Given the description of an element on the screen output the (x, y) to click on. 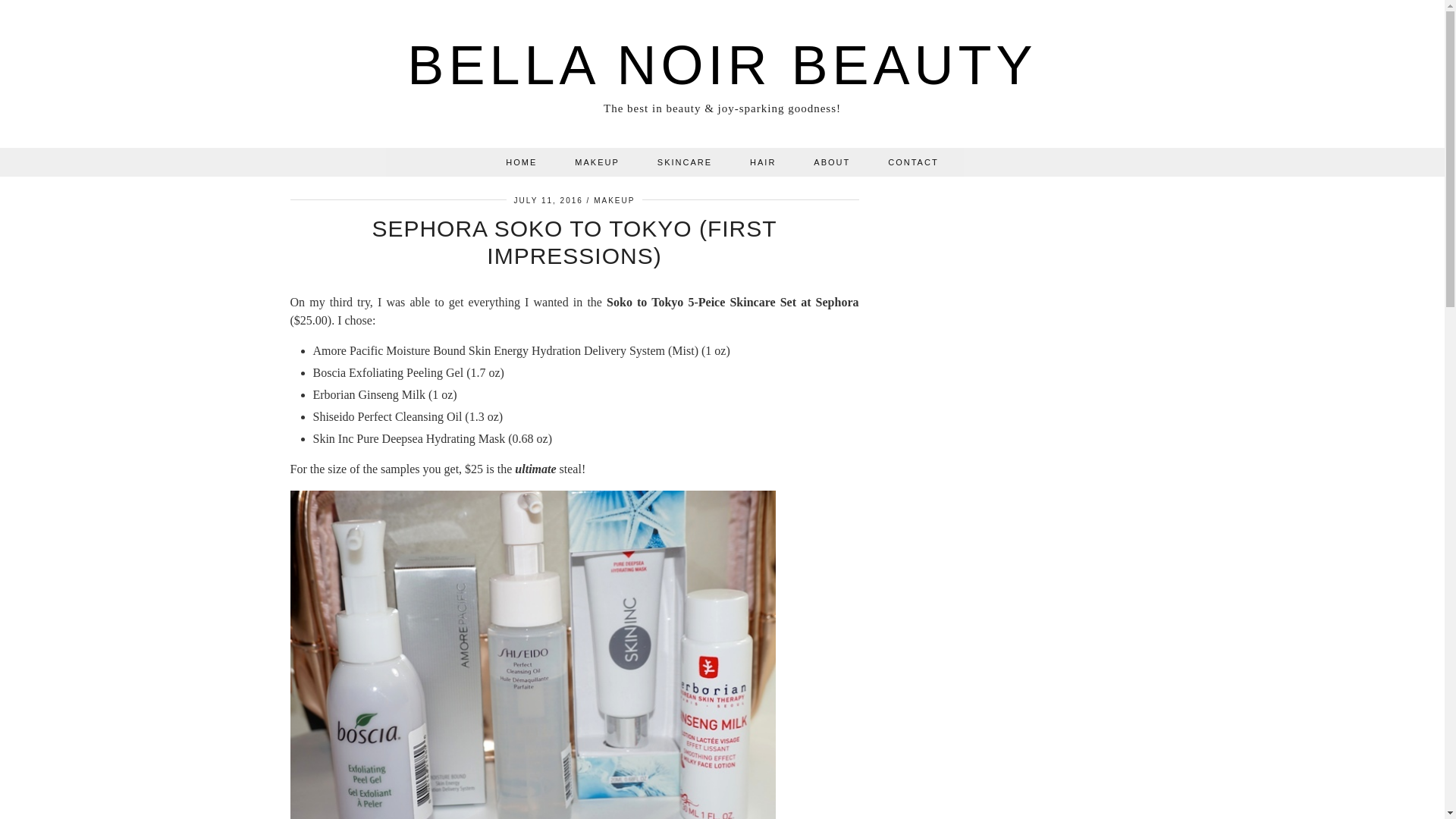
BELLA NOIR BEAUTY (721, 65)
MAKEUP (614, 199)
BELLA NOIR BEAUTY (721, 65)
ABOUT (831, 161)
HOME (521, 161)
SKINCARE (684, 161)
HAIR (762, 161)
MAKEUP (596, 161)
CONTACT (912, 161)
